Given the description of an element on the screen output the (x, y) to click on. 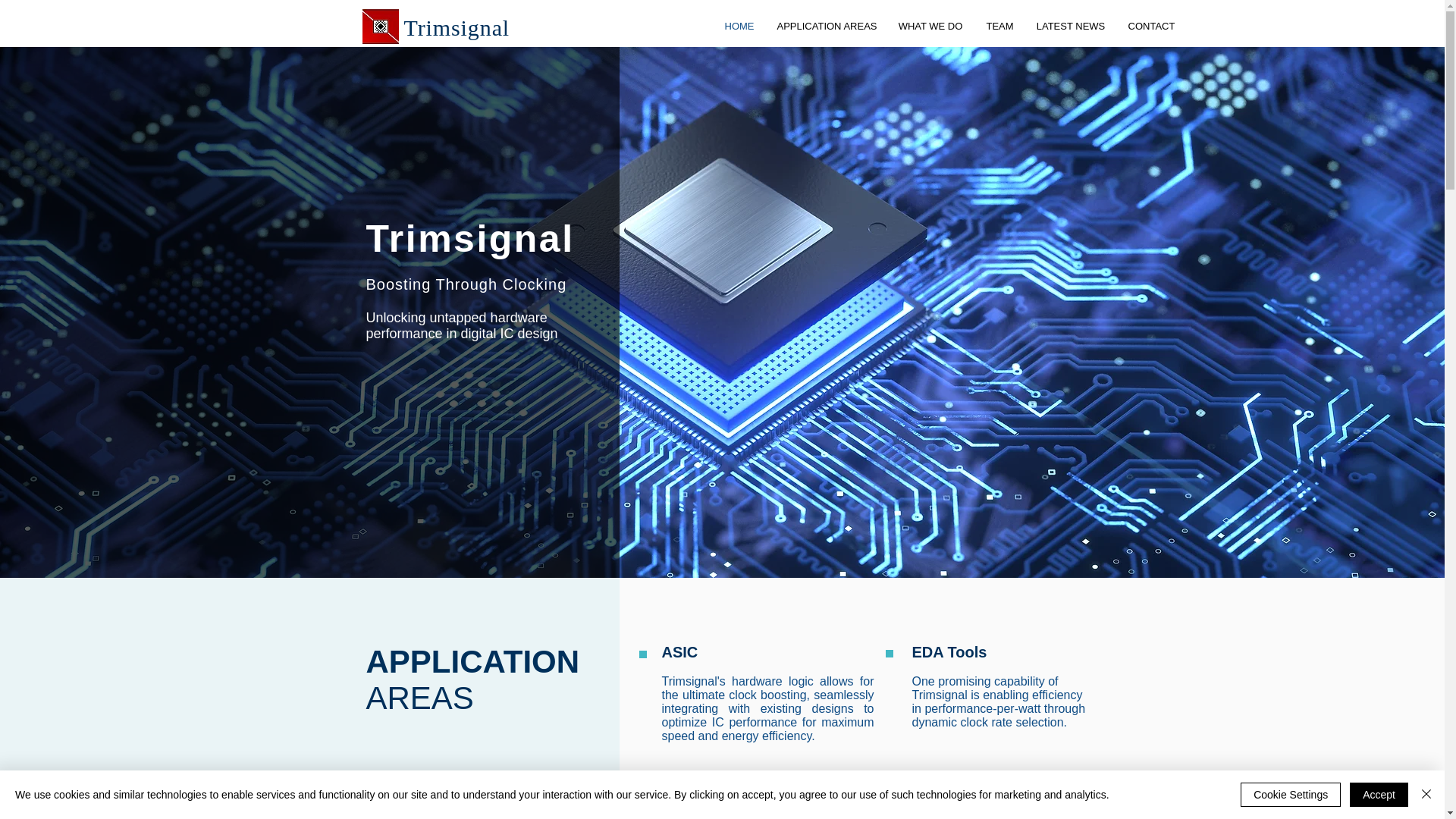
WHAT WE DO (929, 26)
TEAM (1000, 26)
HOME (739, 26)
CONTACT (1151, 26)
APPLICATION AREAS (825, 26)
